Given the description of an element on the screen output the (x, y) to click on. 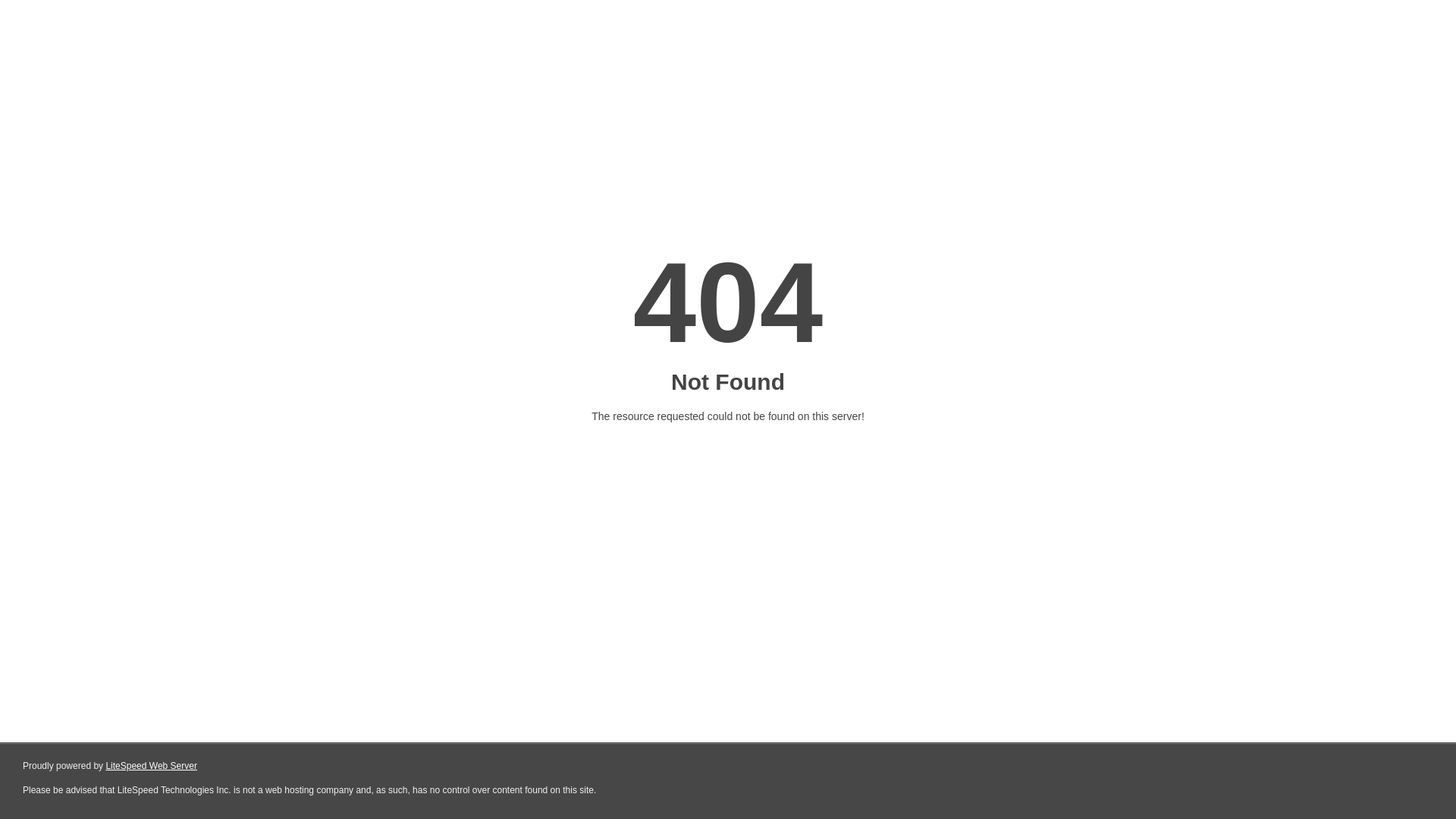
LiteSpeed Web Server Element type: text (151, 765)
